Given the description of an element on the screen output the (x, y) to click on. 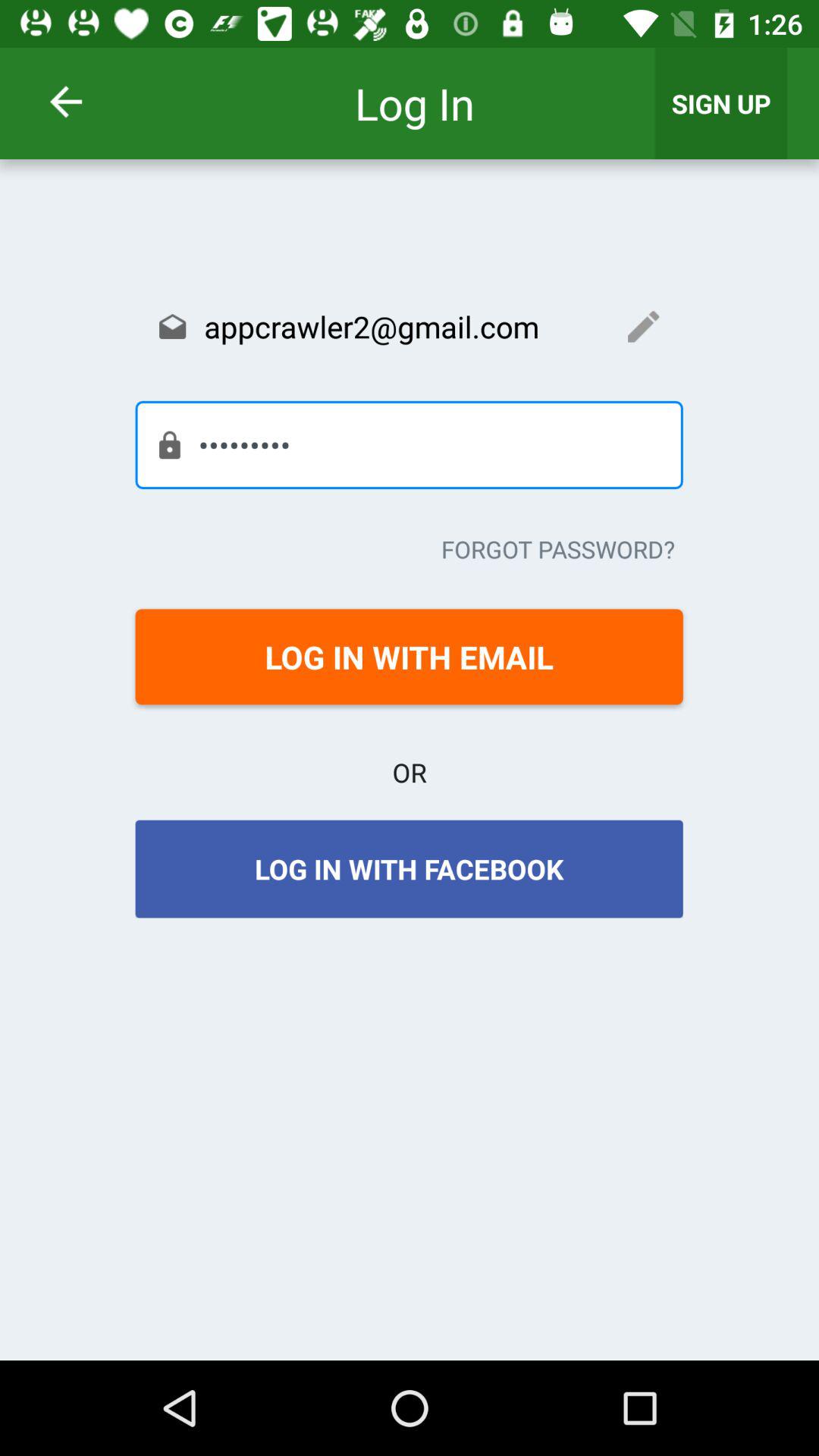
tap the item to the left of sign up (85, 101)
